Given the description of an element on the screen output the (x, y) to click on. 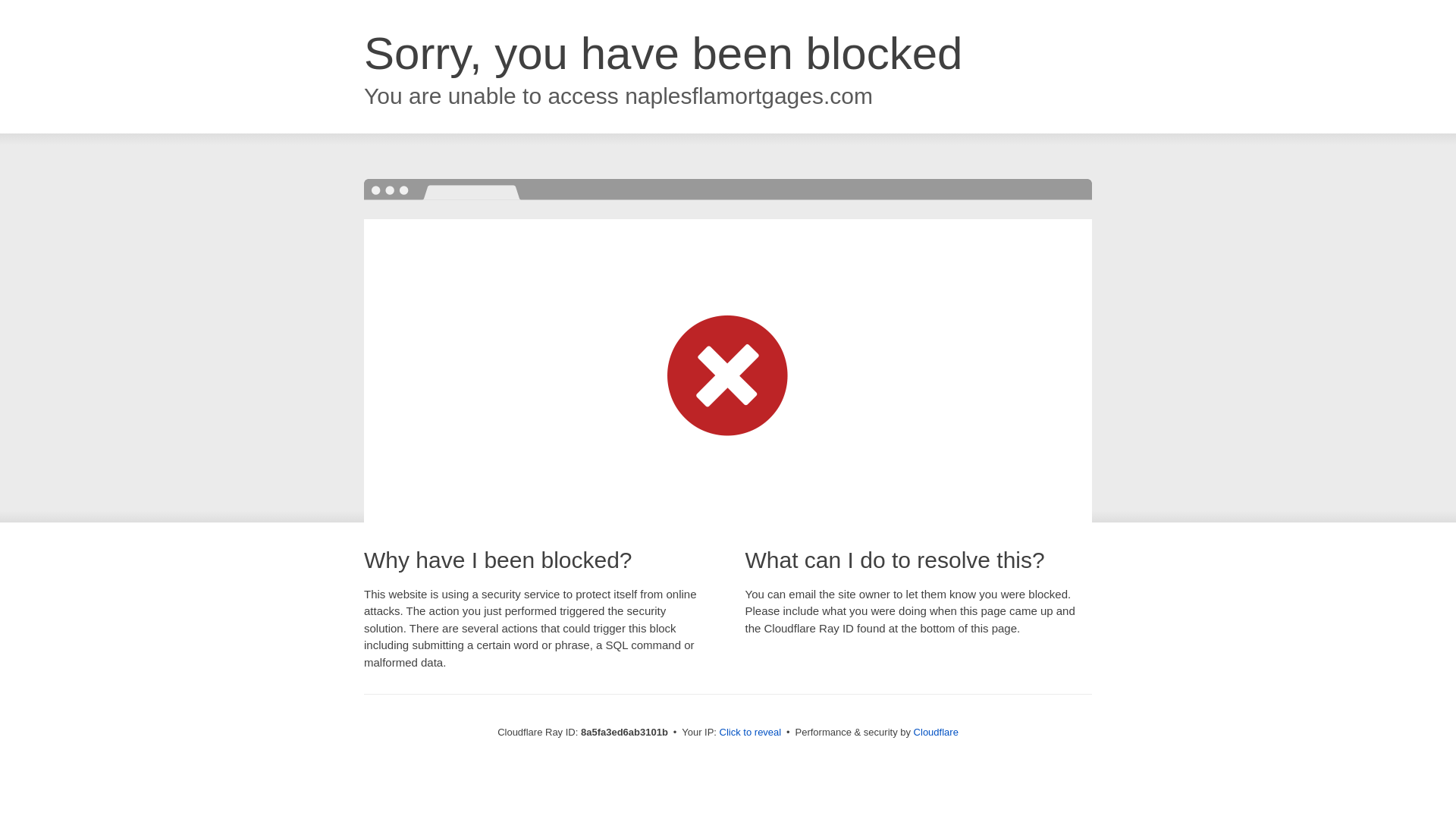
Cloudflare (936, 731)
Click to reveal (750, 732)
